Given the description of an element on the screen output the (x, y) to click on. 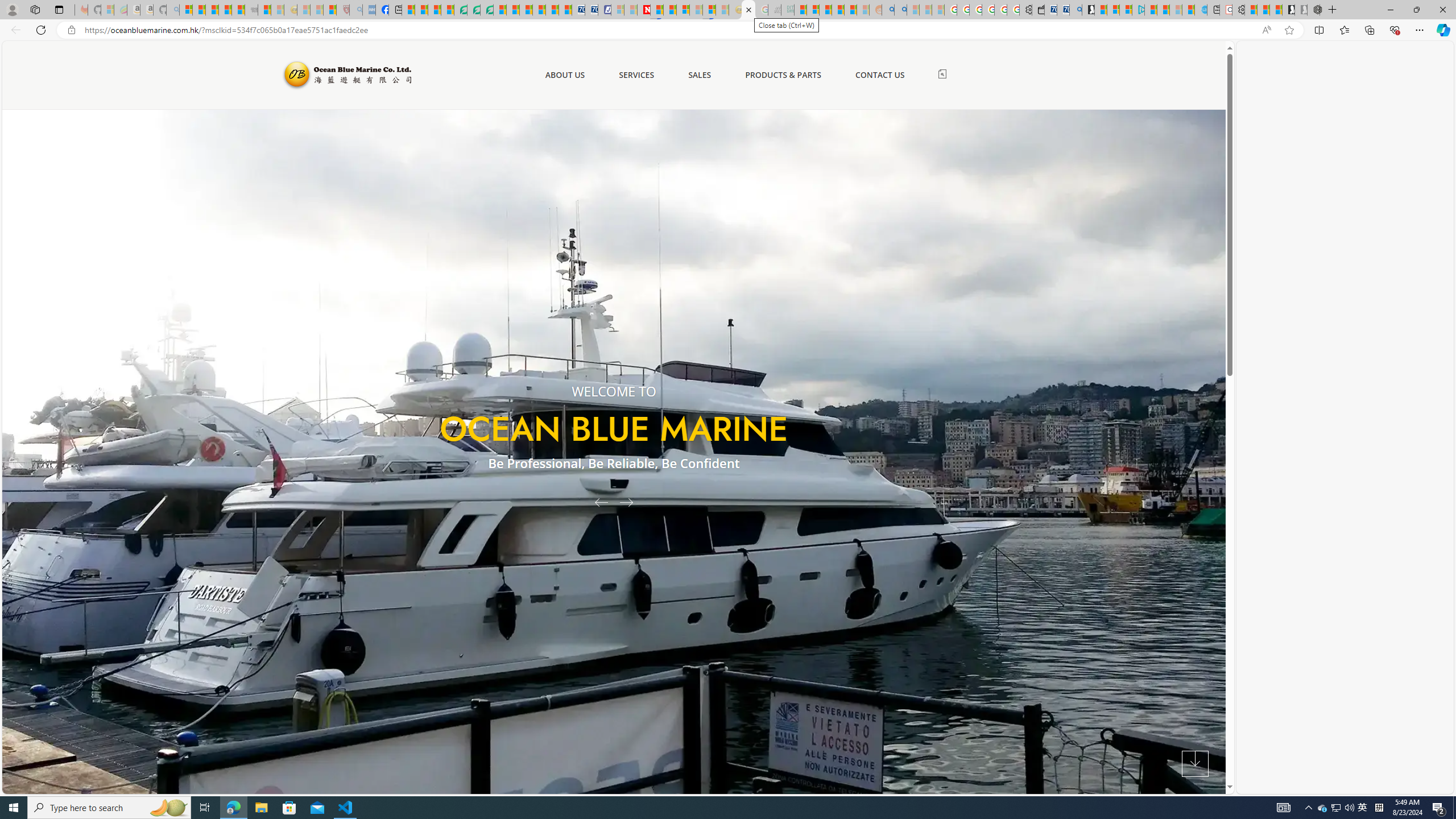
Utah sues federal government - Search (900, 9)
Ocean Blue Marine (345, 74)
Student Loan Update: Forgiveness Program Ends This Month (850, 9)
LendingTree - Compare Lenders (460, 9)
Previous Slide (596, 501)
PRODUCTS & PARTS (783, 74)
CONTACT US (879, 75)
SALES (699, 75)
